Given the description of an element on the screen output the (x, y) to click on. 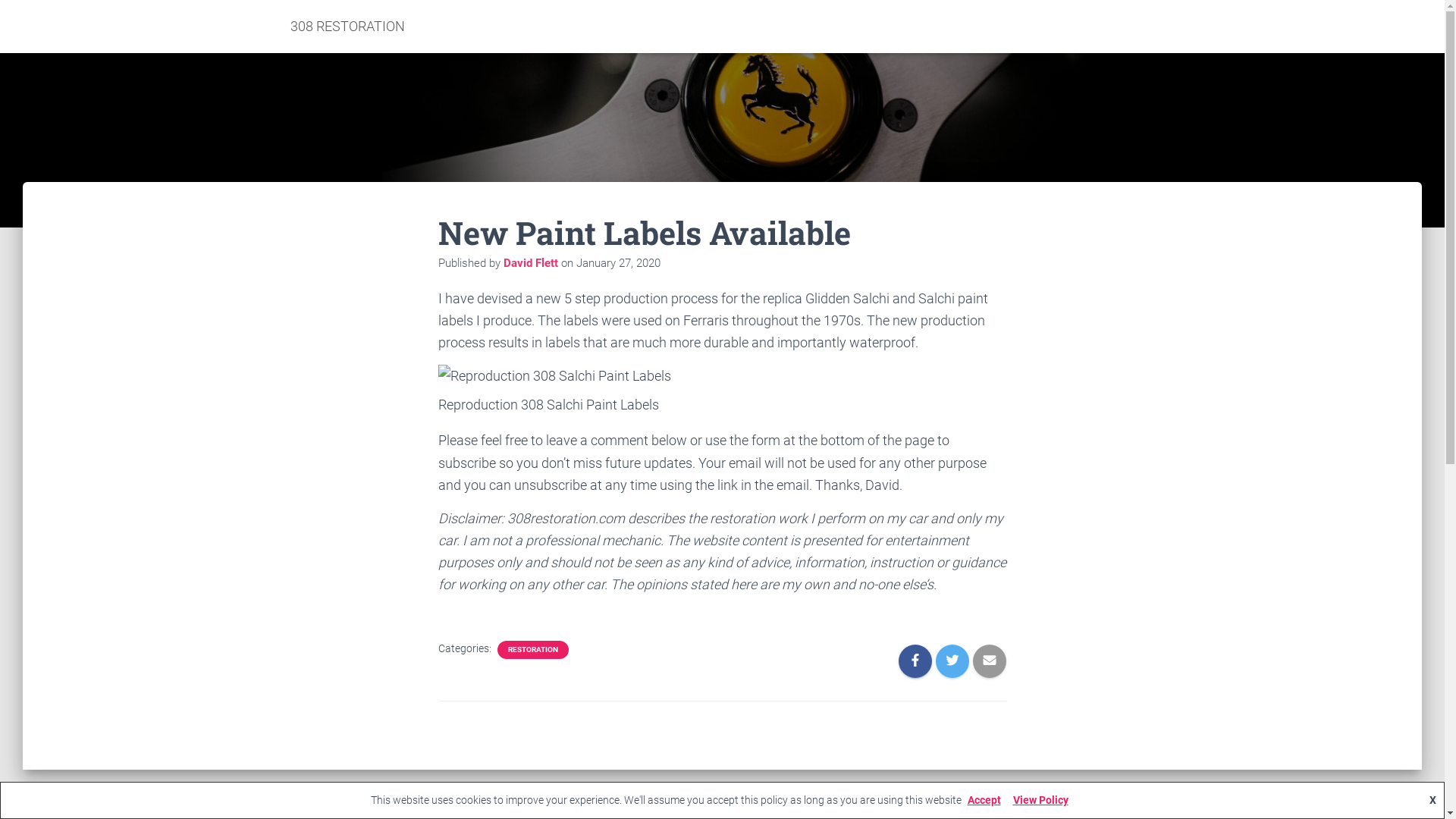
David Flett Element type: text (530, 262)
308 RESTORATION Element type: text (347, 26)
Accept Element type: text (984, 799)
View Policy Element type: text (1040, 799)
RESTORATION Element type: text (532, 649)
